Given the description of an element on the screen output the (x, y) to click on. 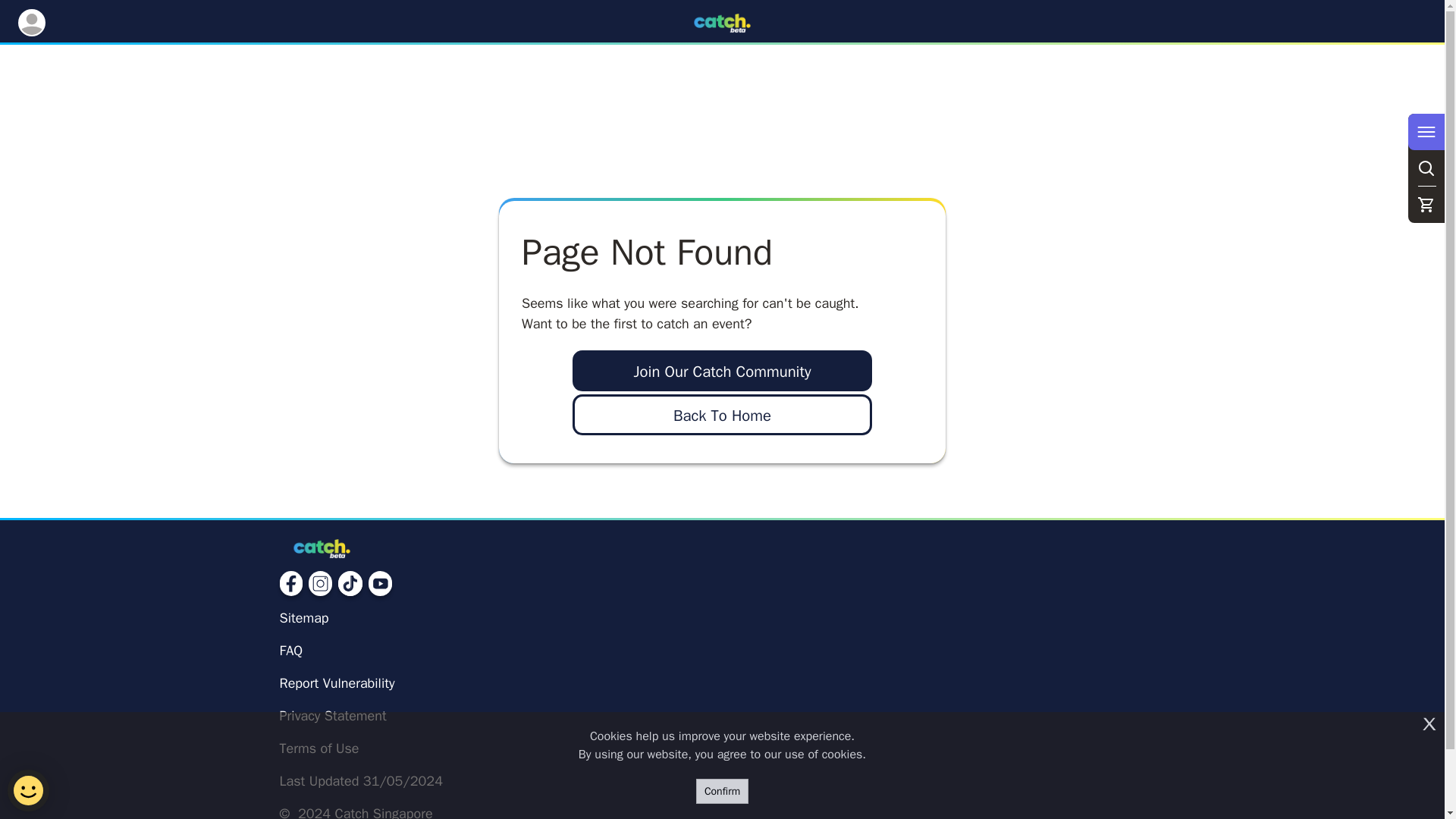
Back To Home (721, 415)
Back To Home (722, 414)
Join Our Catch Community (722, 370)
Join Our Catch Community (721, 371)
